Given the description of an element on the screen output the (x, y) to click on. 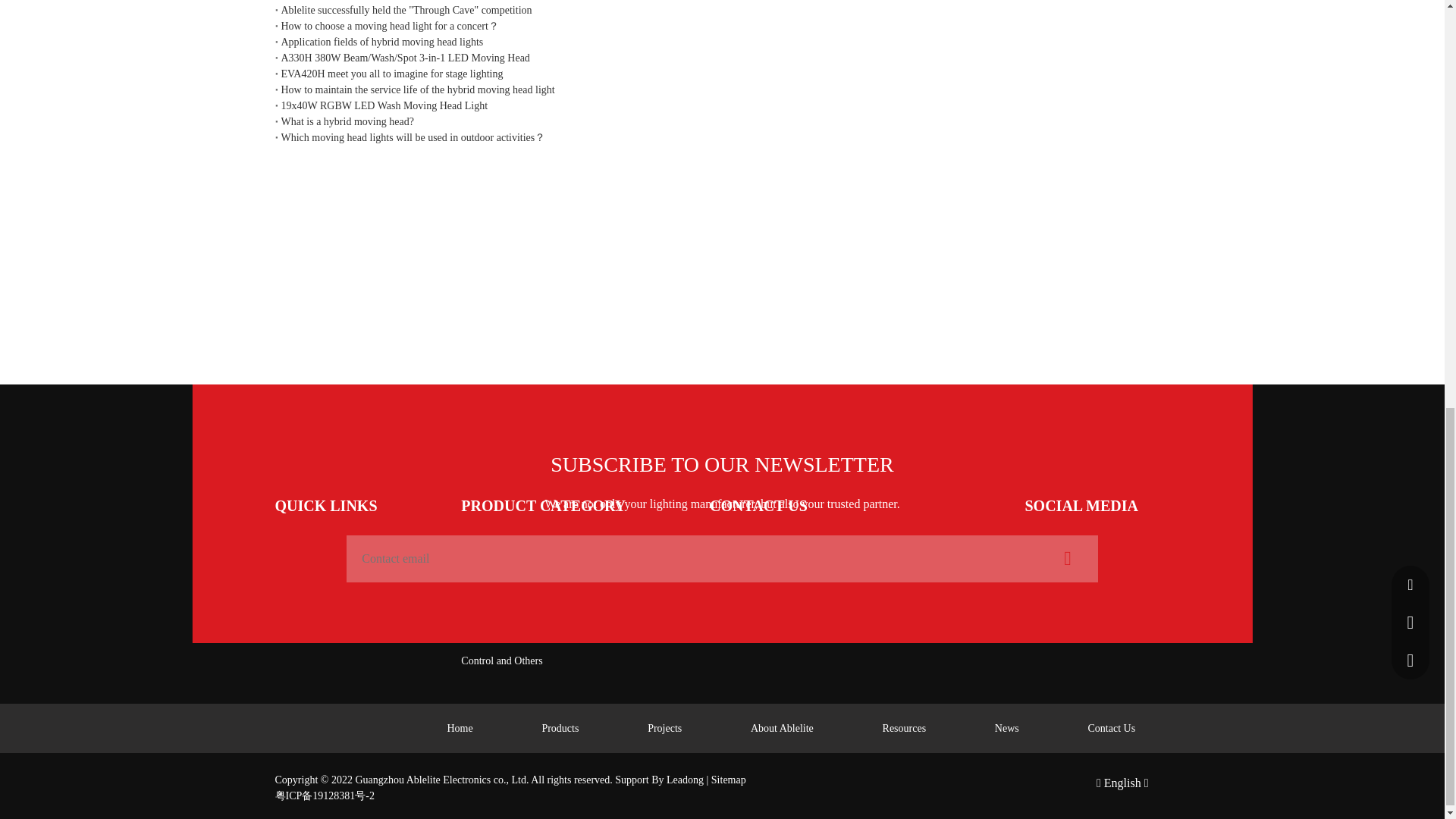
Application fields of hybrid moving head lights (722, 41)
Ablelite successfully held the "Through Cave" competition (722, 10)
Service (290, 585)
19x40W RGBW LED Wash Moving Head Light (722, 105)
What is a hybrid moving head? (722, 121)
Application fields of hybrid moving head lights (722, 41)
Certifications (303, 560)
Company Profile (311, 535)
19x40W RGBW LED Wash Moving Head Light (722, 105)
